Given the description of an element on the screen output the (x, y) to click on. 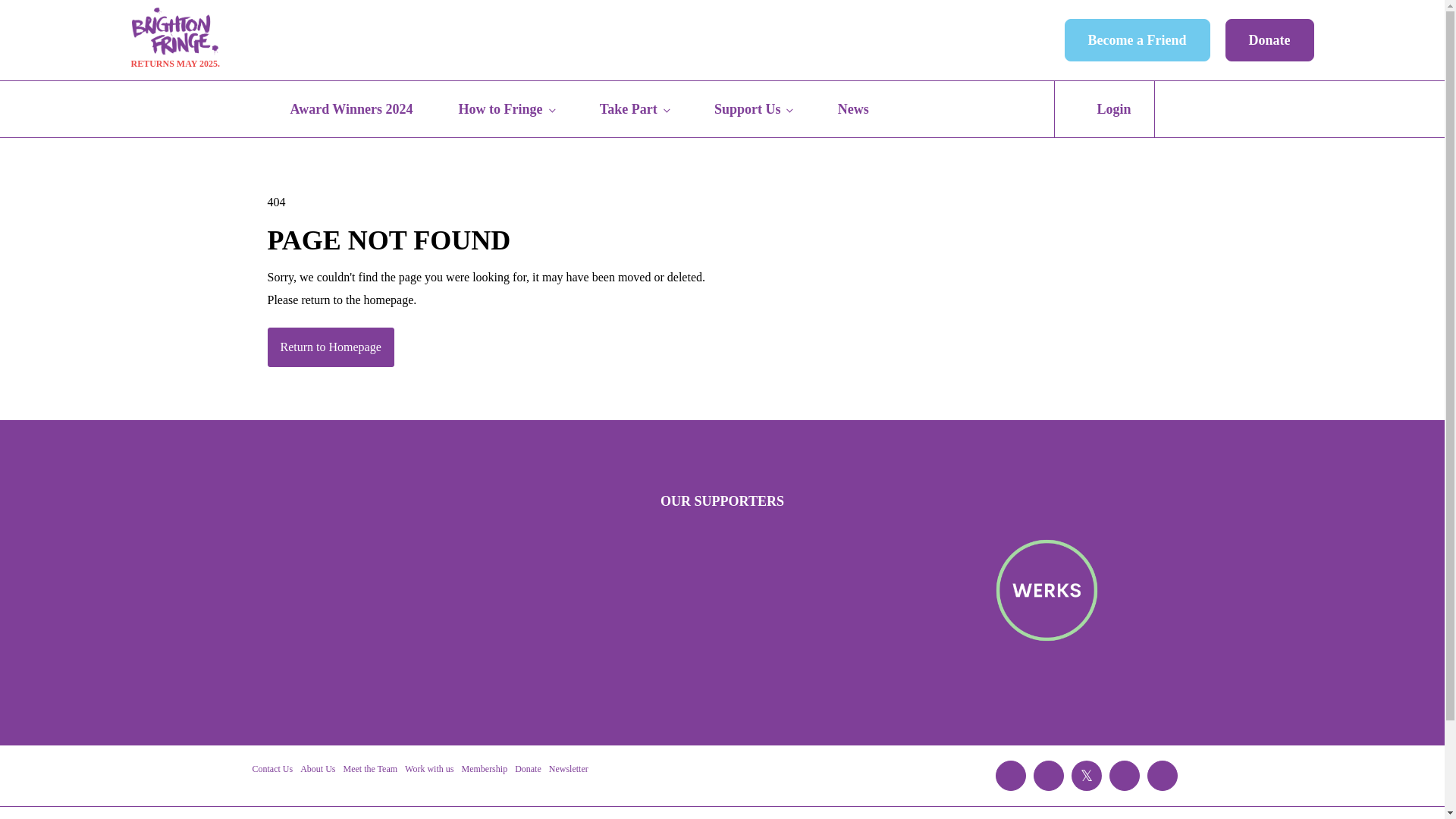
RETURNS MAY 2025. (175, 39)
Become a Friend (1136, 39)
Support Us (753, 109)
How to Fringe (505, 109)
Take Part (633, 109)
News (853, 109)
Donate (1269, 39)
Award Winners 2024 (350, 109)
